Given the description of an element on the screen output the (x, y) to click on. 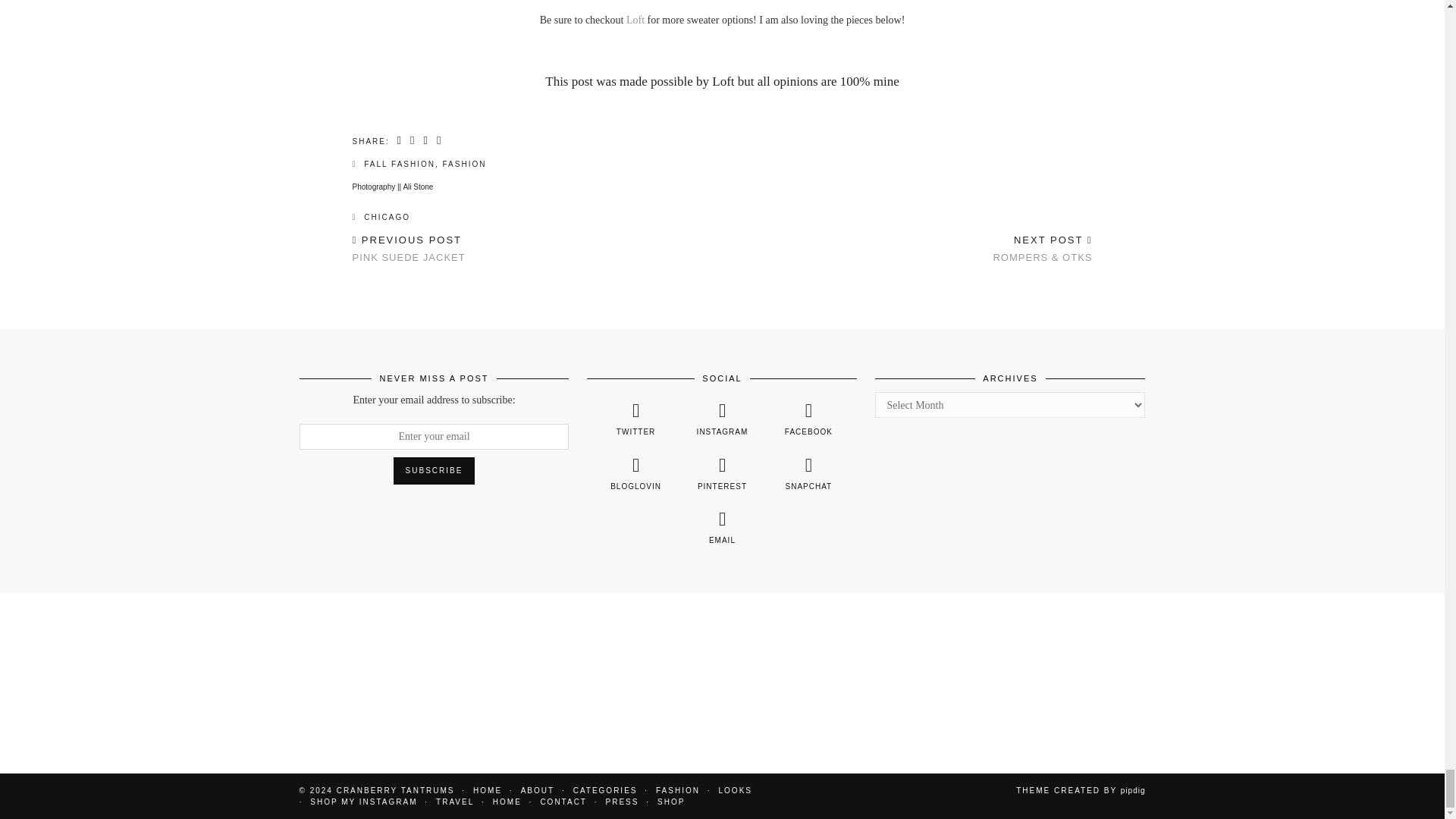
Subscribe (434, 470)
